Given the description of an element on the screen output the (x, y) to click on. 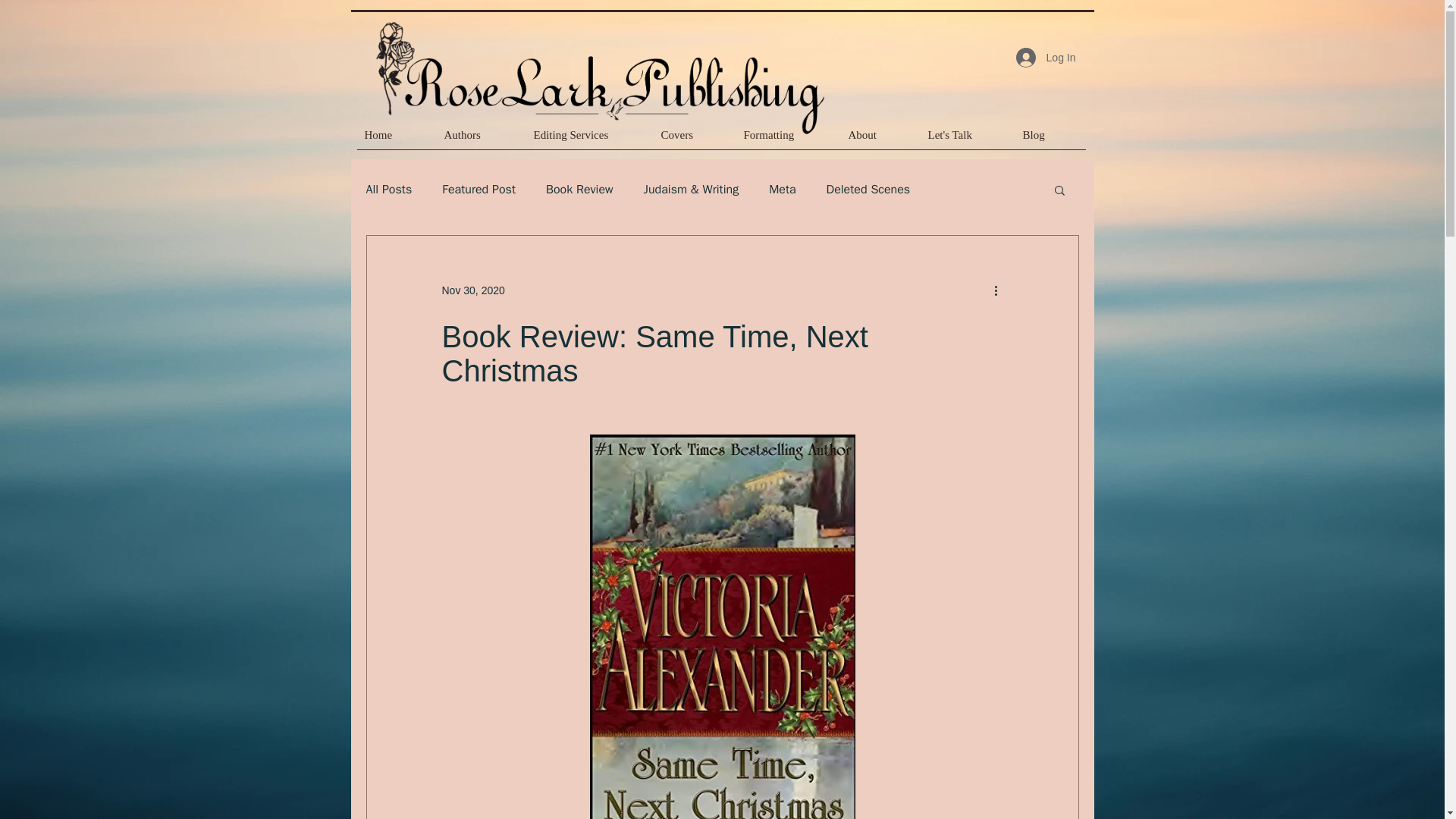
Authors (480, 139)
Book Review (579, 189)
Home (395, 139)
Editing Services (589, 139)
Formatting (787, 139)
Blog (1049, 139)
All Posts (388, 189)
Deleted Scenes (869, 189)
Log In (1046, 57)
Featured Post (478, 189)
Covers (694, 139)
Nov 30, 2020 (472, 289)
Meta (781, 189)
Let's Talk (967, 139)
About (880, 139)
